Given the description of an element on the screen output the (x, y) to click on. 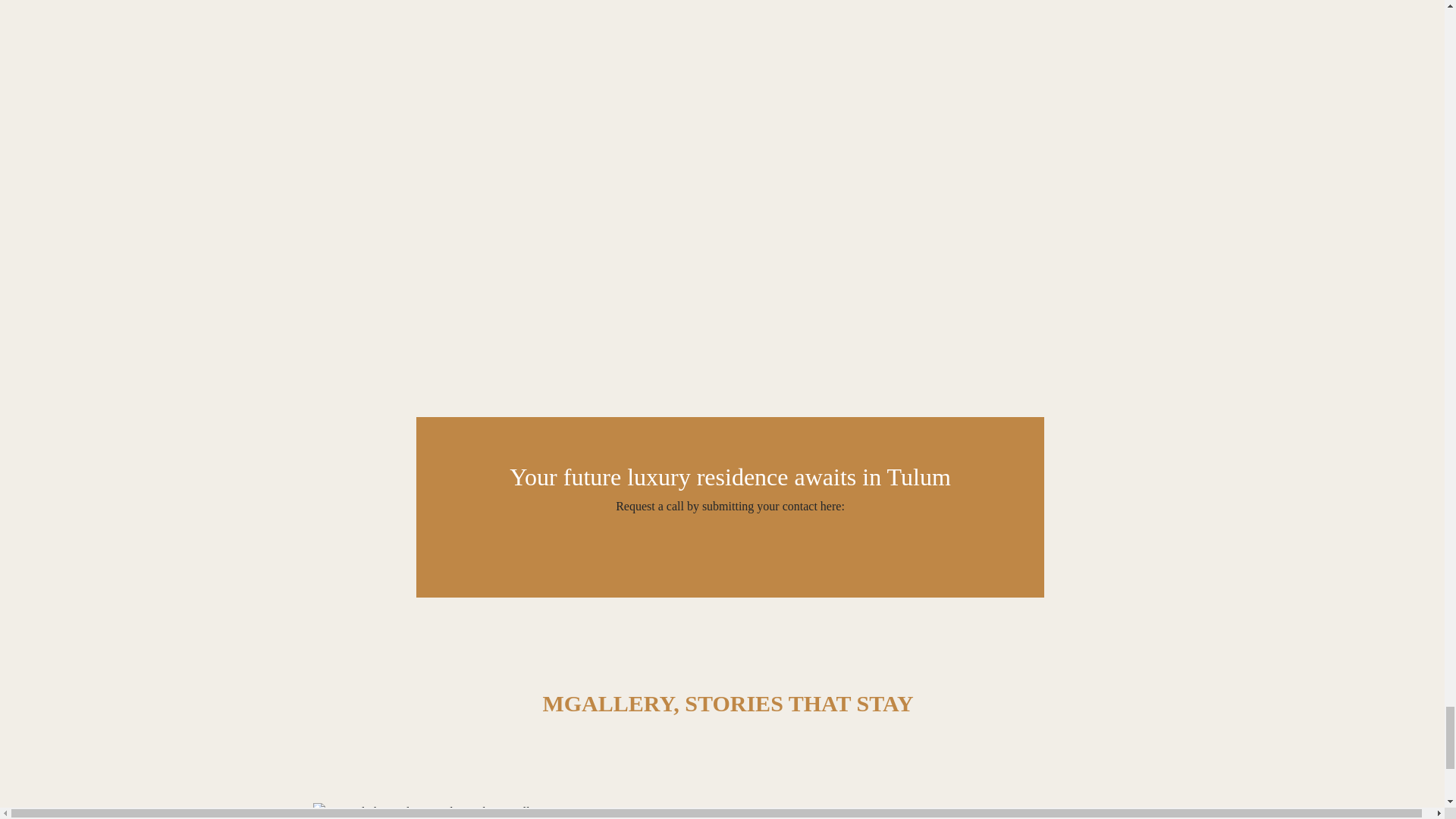
MGallery Residences in Tulum. (439, 811)
Accor Live Limitless. (727, 815)
Inmobilia Desarrollos. (1015, 815)
